Given the description of an element on the screen output the (x, y) to click on. 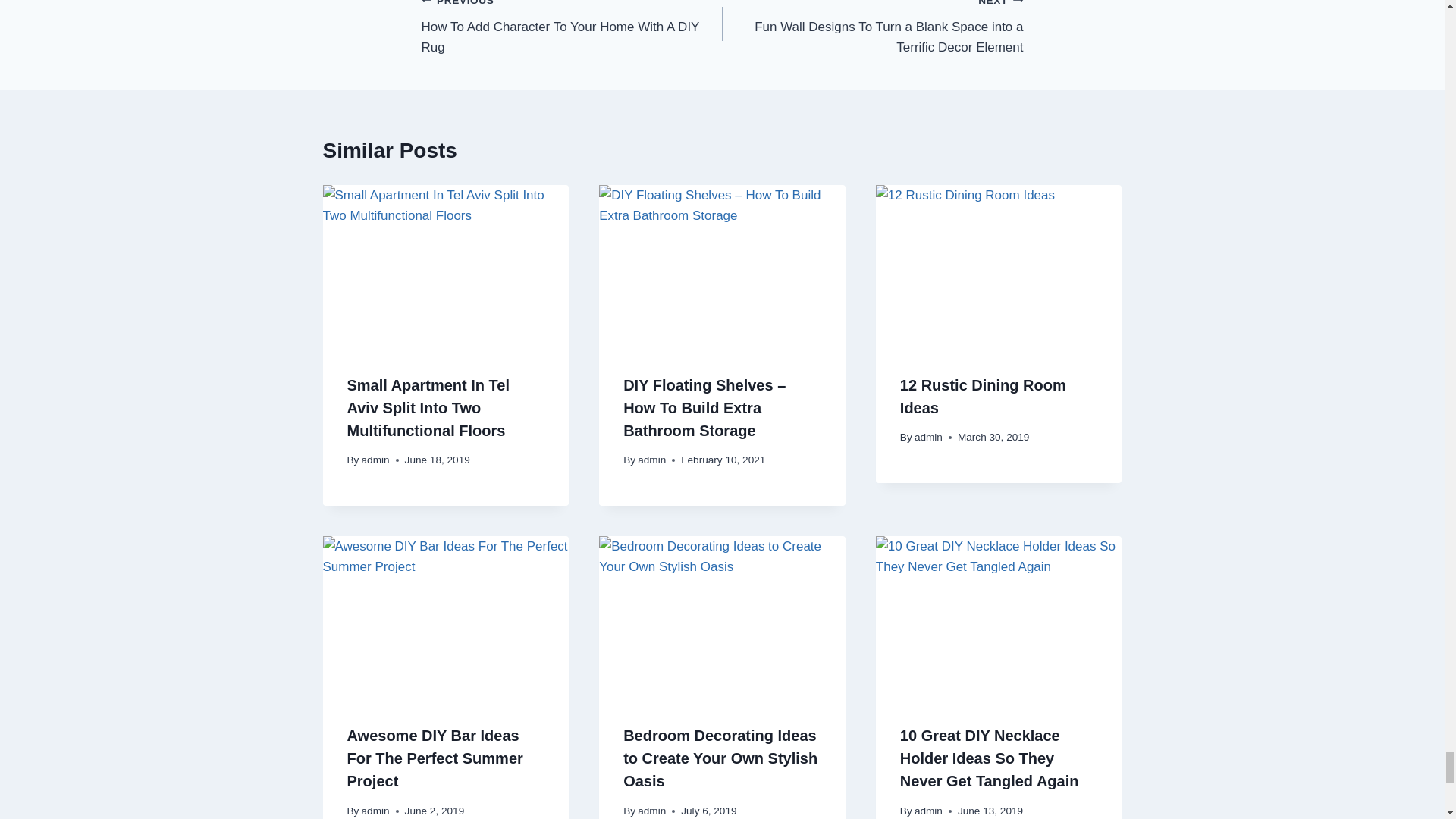
admin (375, 810)
admin (375, 460)
12 Rustic Dining Room Ideas (982, 396)
admin (928, 437)
Awesome DIY Bar Ideas For The Perfect Summer Project (434, 758)
admin (651, 460)
